Given the description of an element on the screen output the (x, y) to click on. 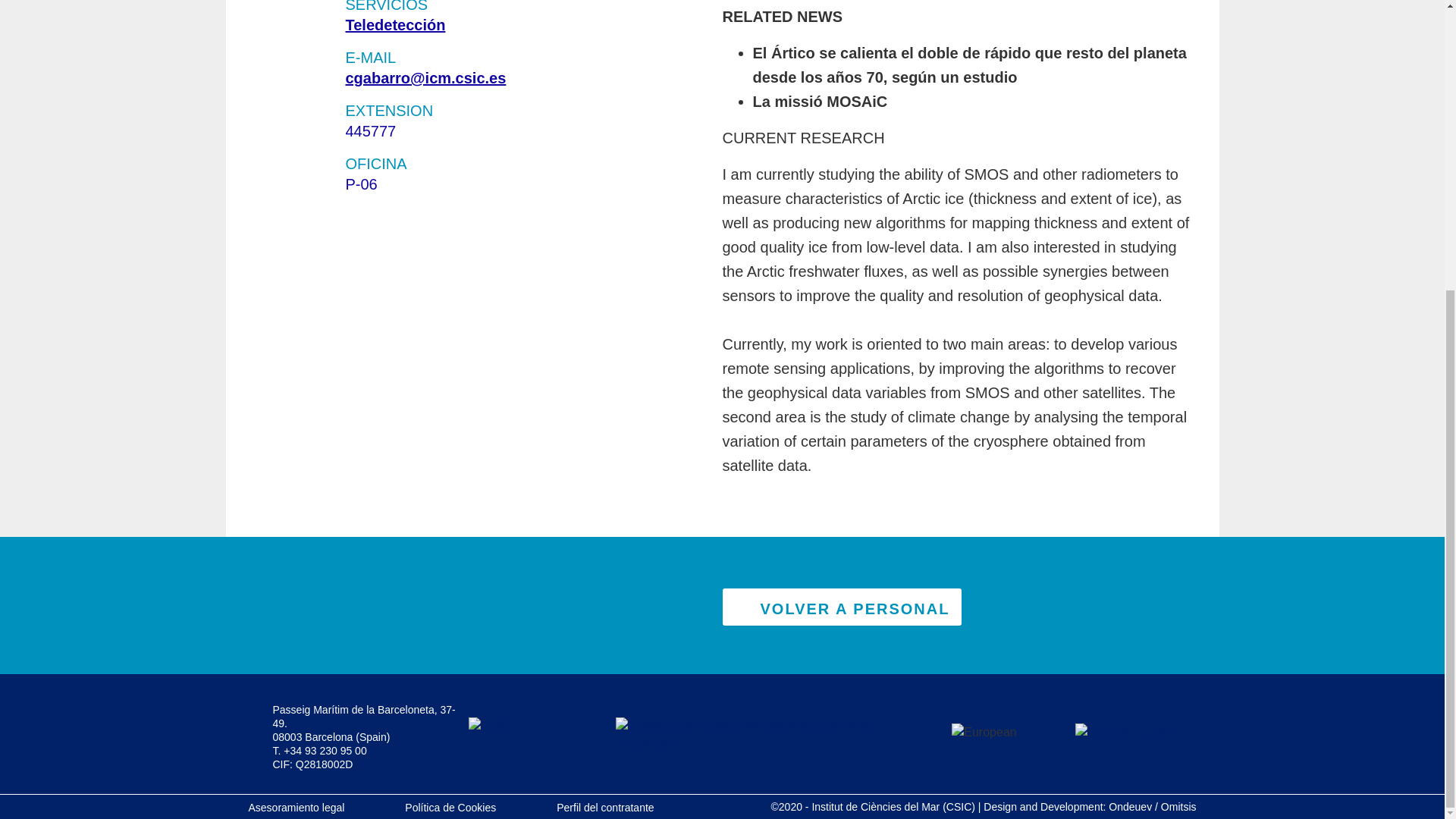
VOLVER A PERSONAL (841, 606)
Asesoramiento legal (296, 807)
Perfil del contratante (604, 807)
